Given the description of an element on the screen output the (x, y) to click on. 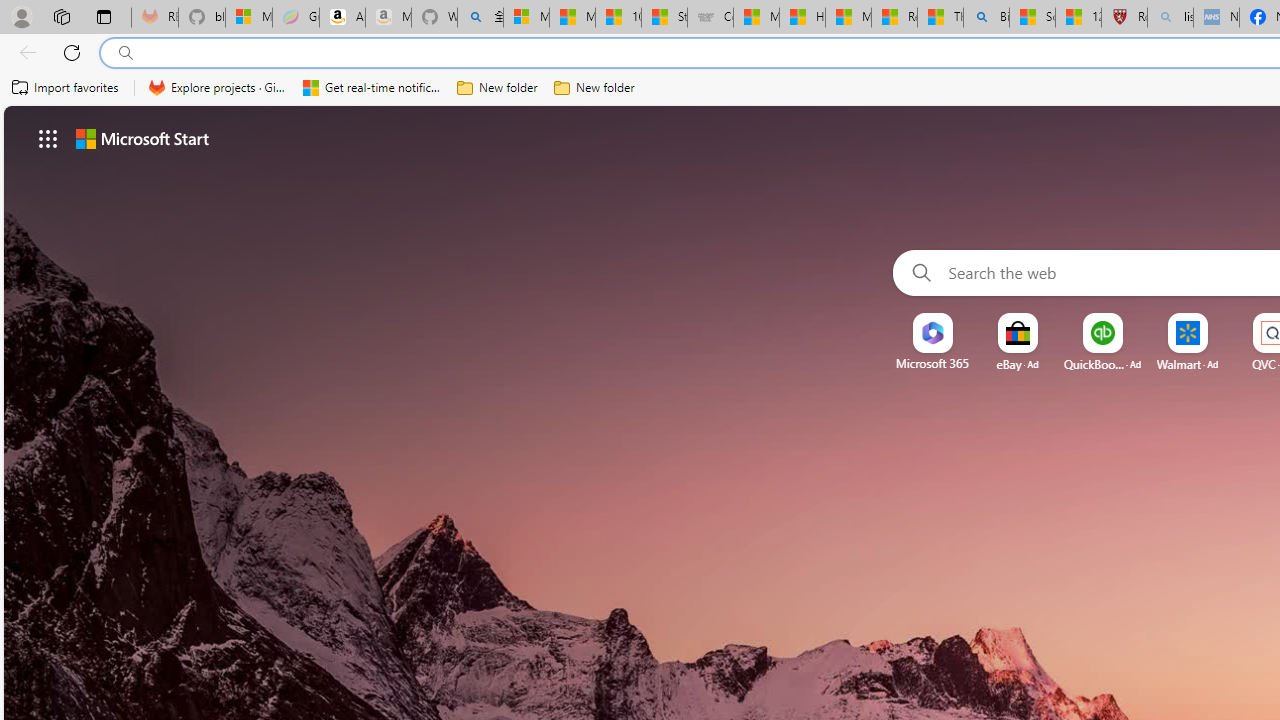
New folder (594, 88)
Microsoft start (142, 138)
